Given the description of an element on the screen output the (x, y) to click on. 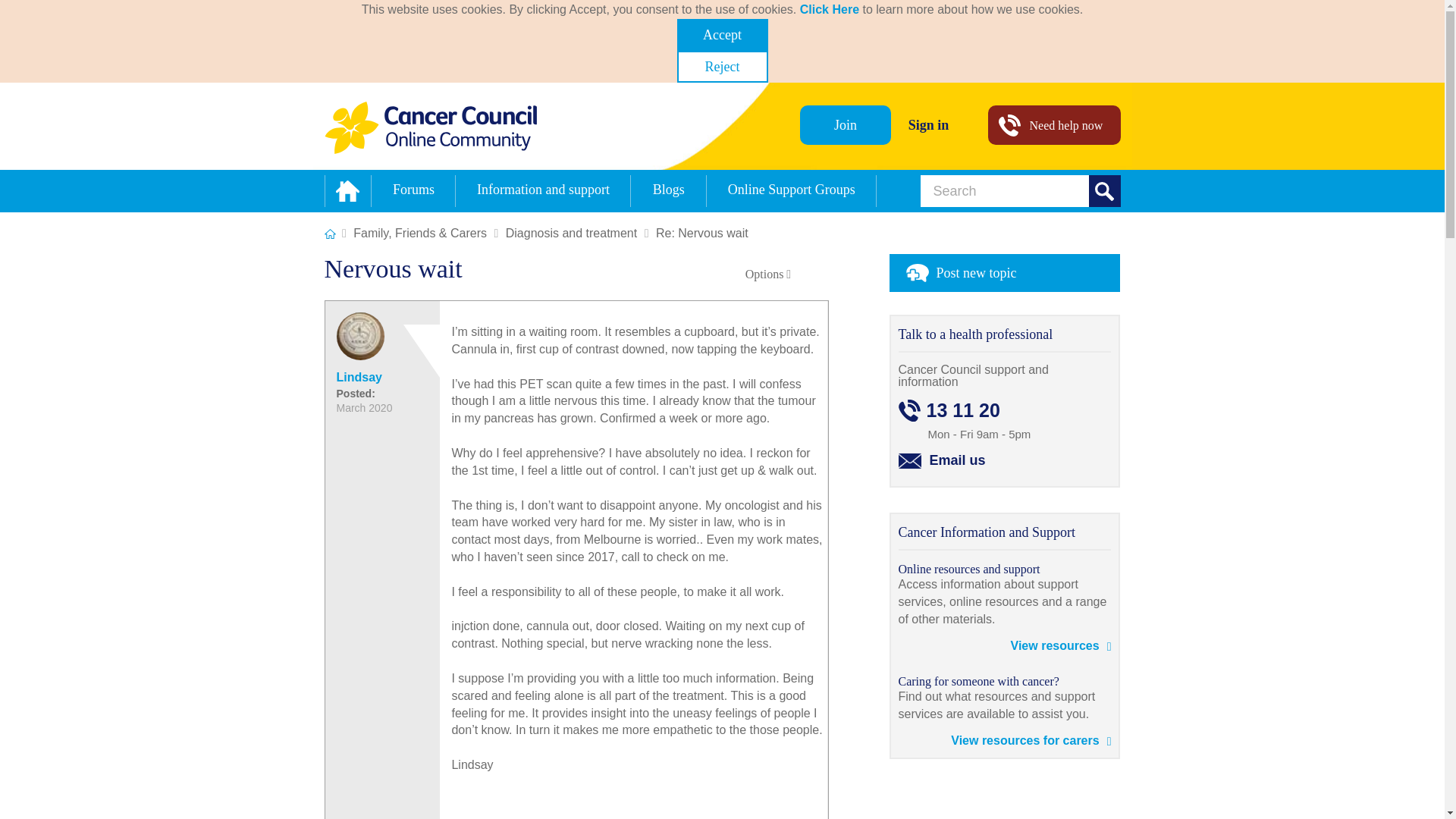
Cancer Council NSW - Community (430, 127)
Lindsay (360, 336)
Accept (722, 34)
Forums (413, 191)
Search (1105, 191)
Search (1105, 191)
Cancer Connections (330, 233)
Lindsay (358, 377)
Search (1020, 191)
Posted on (374, 401)
